Given the description of an element on the screen output the (x, y) to click on. 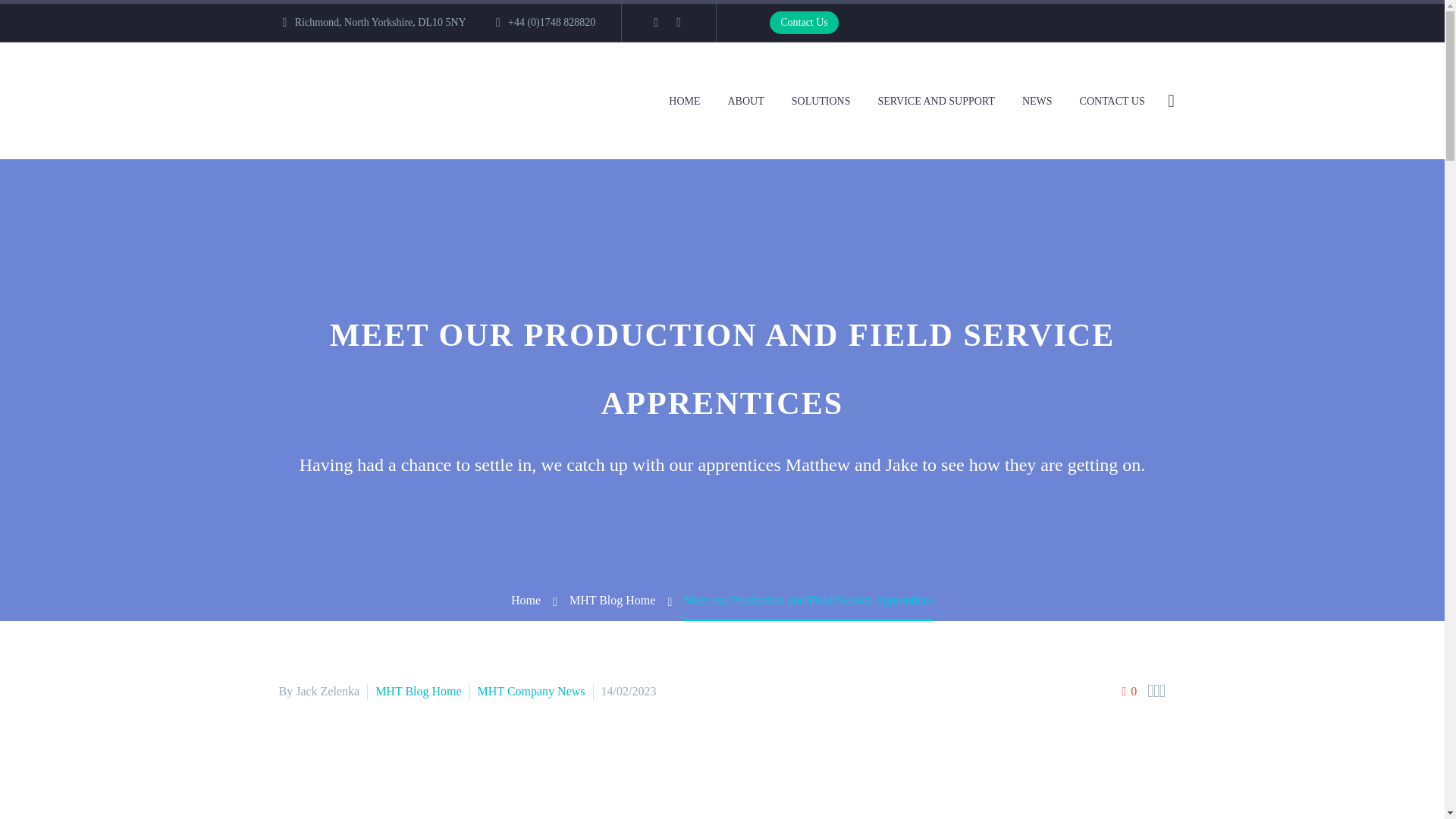
ABOUT (745, 99)
View all posts in MHT Company News (531, 690)
View all posts in MHT Blog Home (418, 690)
SOLUTIONS (820, 99)
Contact Us (804, 22)
HOME (684, 99)
Twitter (678, 22)
LinkedIn (655, 22)
